Given the description of an element on the screen output the (x, y) to click on. 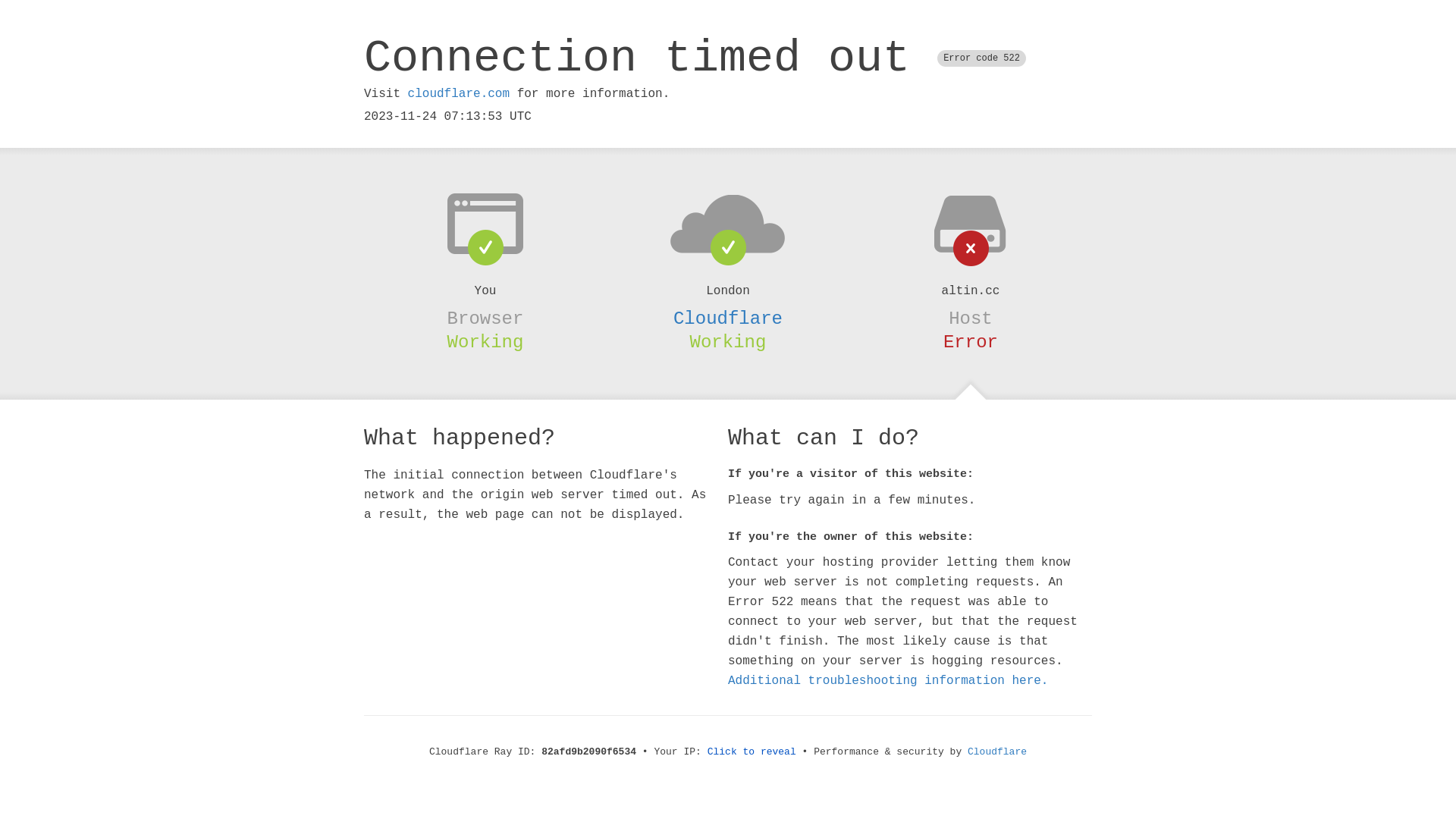
Additional troubleshooting information here. Element type: text (888, 680)
Click to reveal Element type: text (751, 751)
cloudflare.com Element type: text (458, 93)
Cloudflare Element type: text (727, 318)
Cloudflare Element type: text (996, 751)
